Given the description of an element on the screen output the (x, y) to click on. 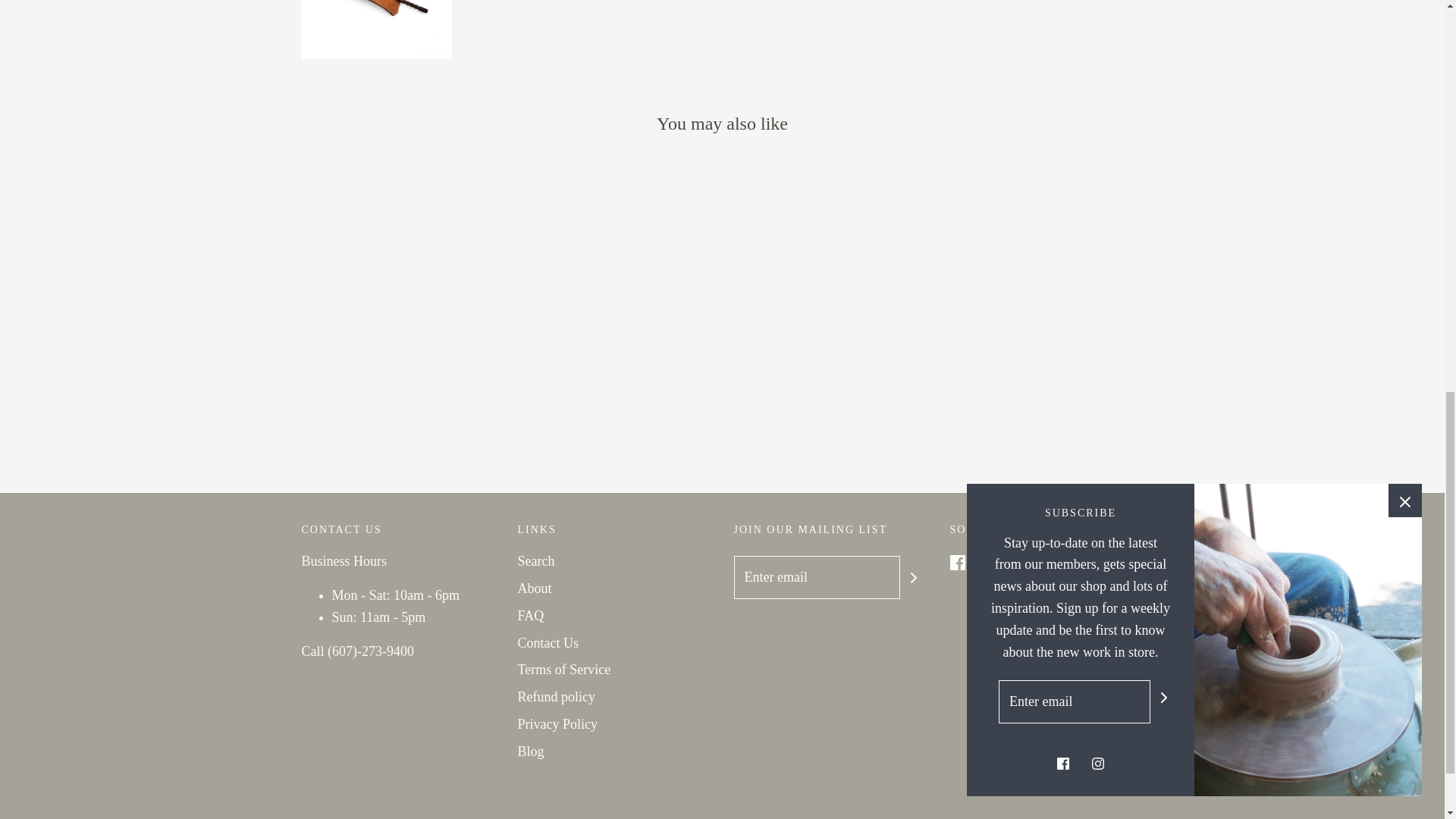
Shop Pay (1075, 818)
Meta Pay (931, 818)
Facebook icon (956, 562)
Visa (1121, 818)
Google Pay (979, 818)
Mastercard (1026, 818)
American Express (739, 818)
Apple Pay (788, 818)
Discover (883, 818)
Instagram icon (983, 562)
Diners Club (834, 818)
